Given the description of an element on the screen output the (x, y) to click on. 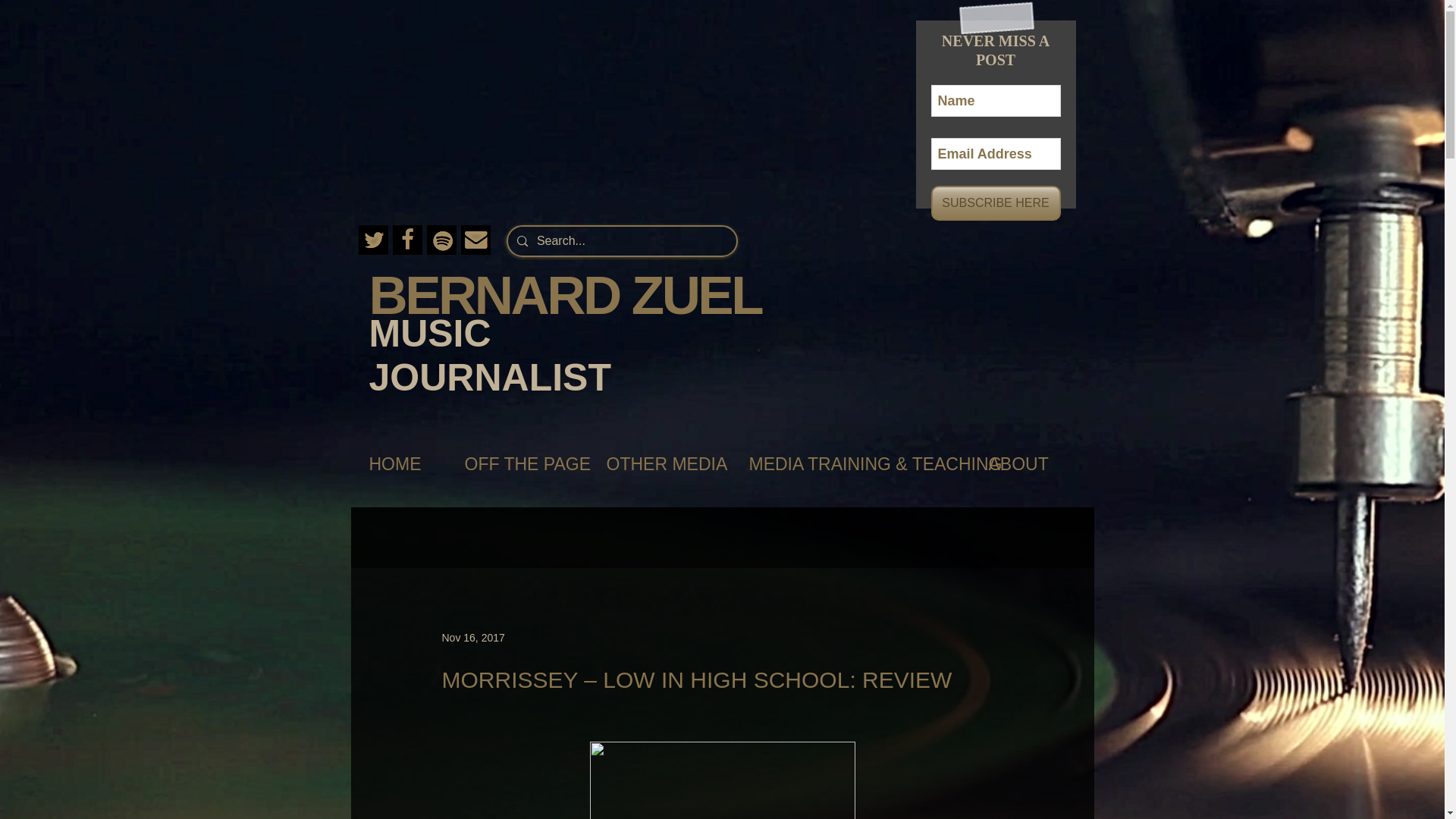
HOME (400, 464)
ABOUT (1024, 464)
OTHER MEDIA (662, 464)
SUBSCRIBE HERE (996, 202)
Nov 16, 2017 (472, 636)
